Given the description of an element on the screen output the (x, y) to click on. 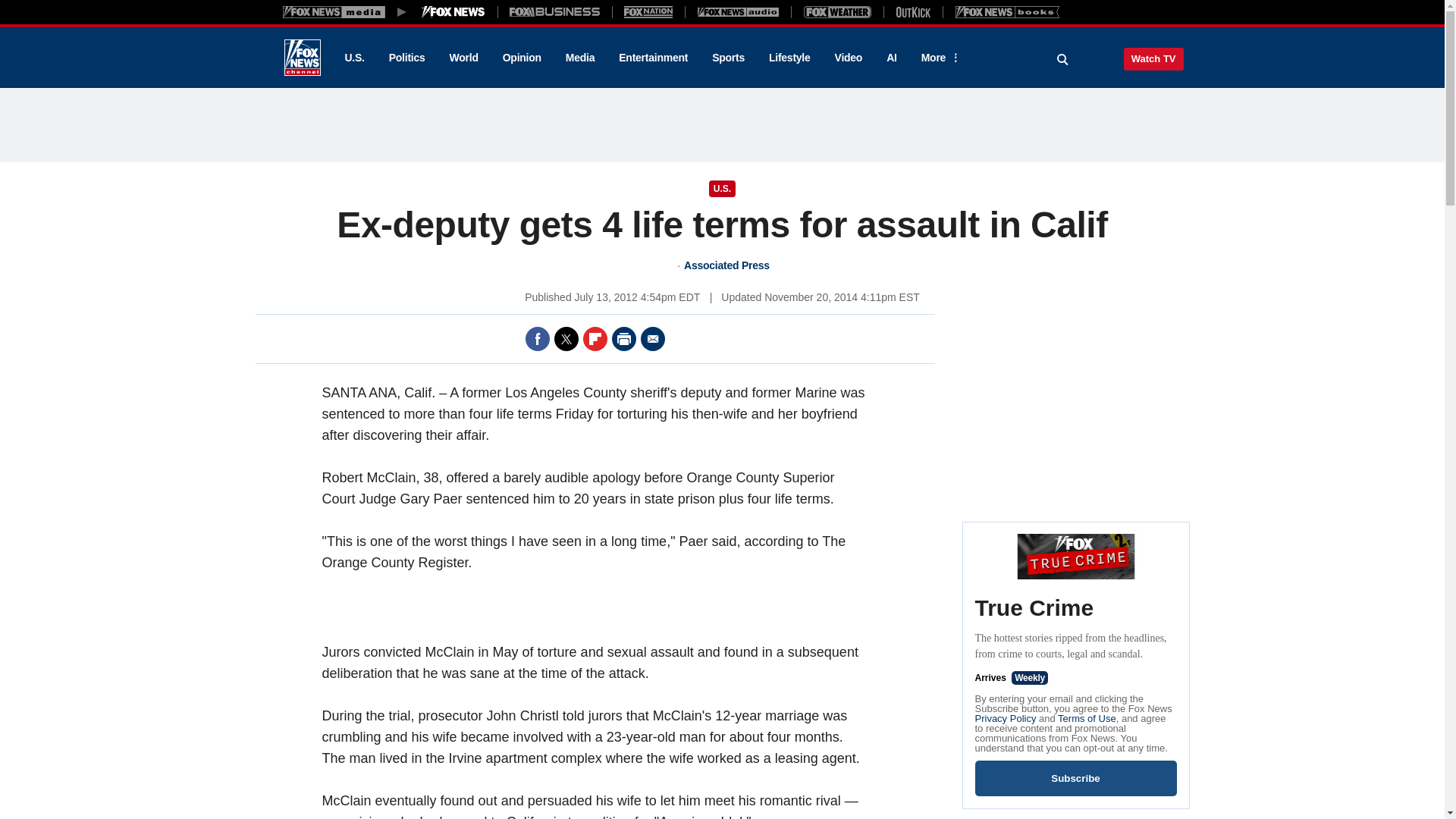
Fox Business (554, 11)
More (938, 57)
Fox News Media (453, 11)
Politics (407, 57)
Sports (728, 57)
AI (891, 57)
Fox Weather (836, 11)
Entertainment (653, 57)
Outkick (912, 11)
Opinion (521, 57)
